Given the description of an element on the screen output the (x, y) to click on. 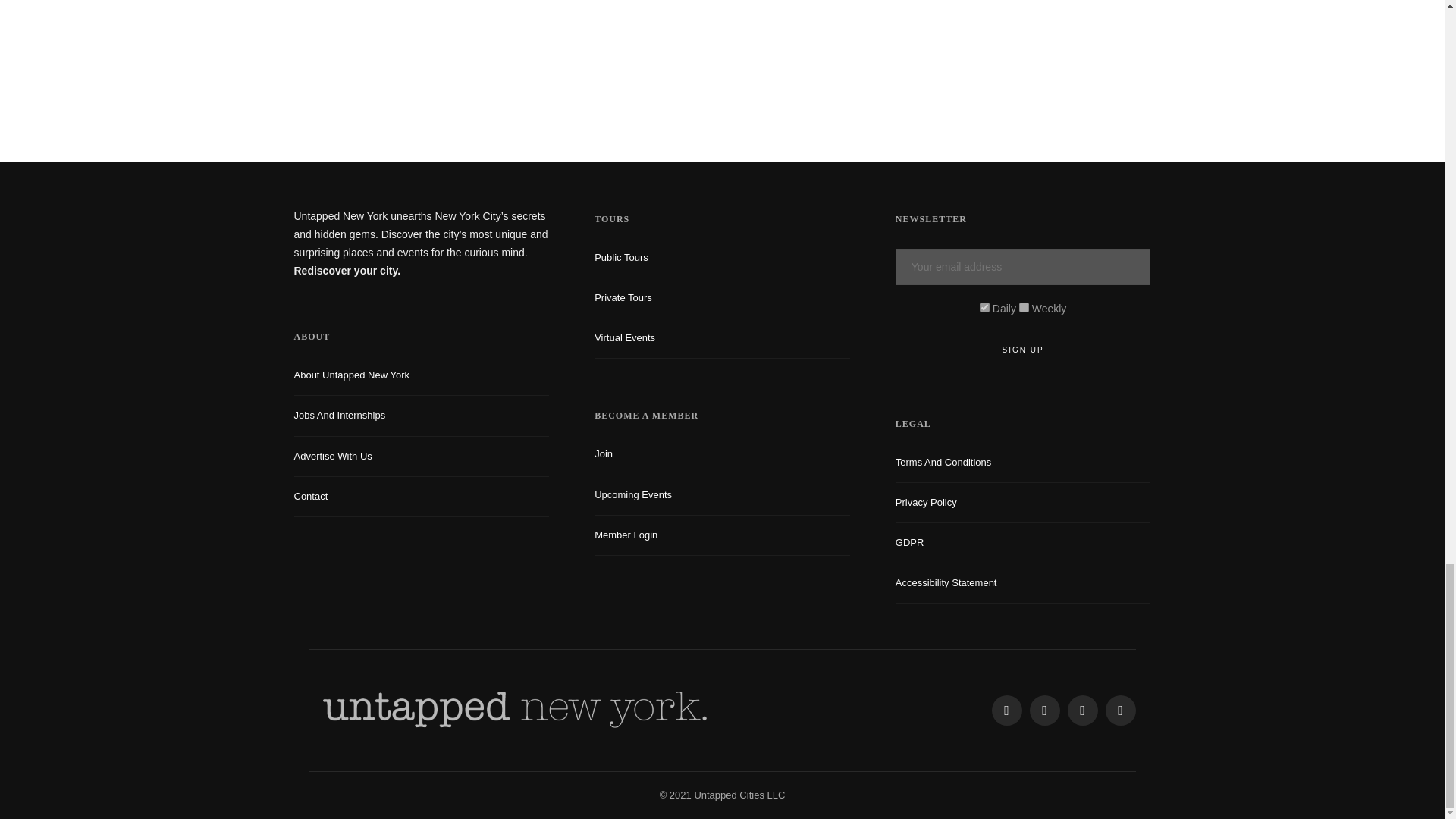
7cff6a70fd (1024, 307)
e99a09560c (984, 307)
Sign up (1023, 349)
